Given the description of an element on the screen output the (x, y) to click on. 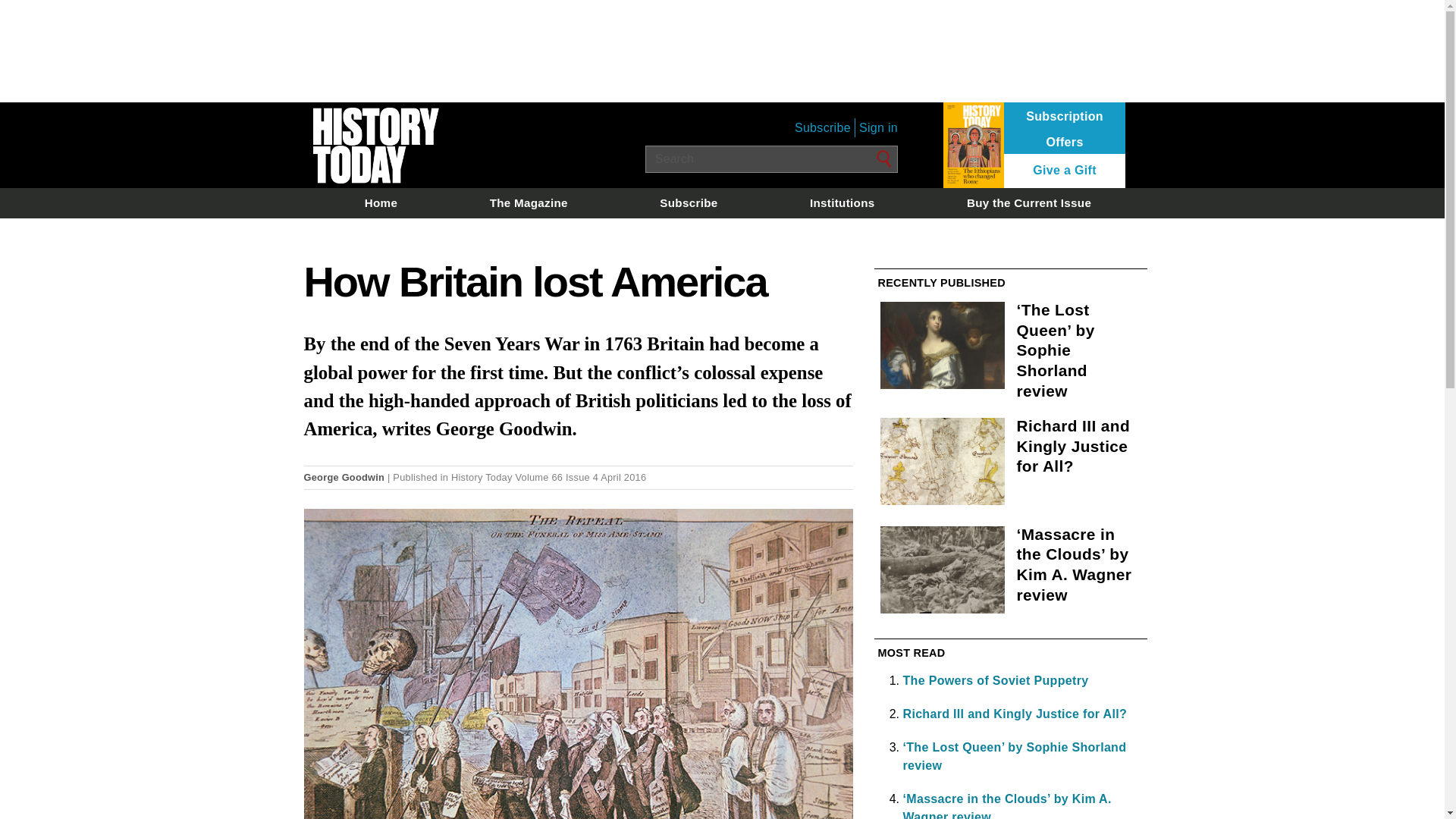
Subscription (1064, 116)
History Today (481, 477)
Sign in (878, 127)
Subscribe (688, 202)
George Goodwin (343, 477)
Search (884, 158)
The Magazine (529, 202)
Subscribe (822, 127)
Search (884, 158)
Offers (1064, 142)
